Given the description of an element on the screen output the (x, y) to click on. 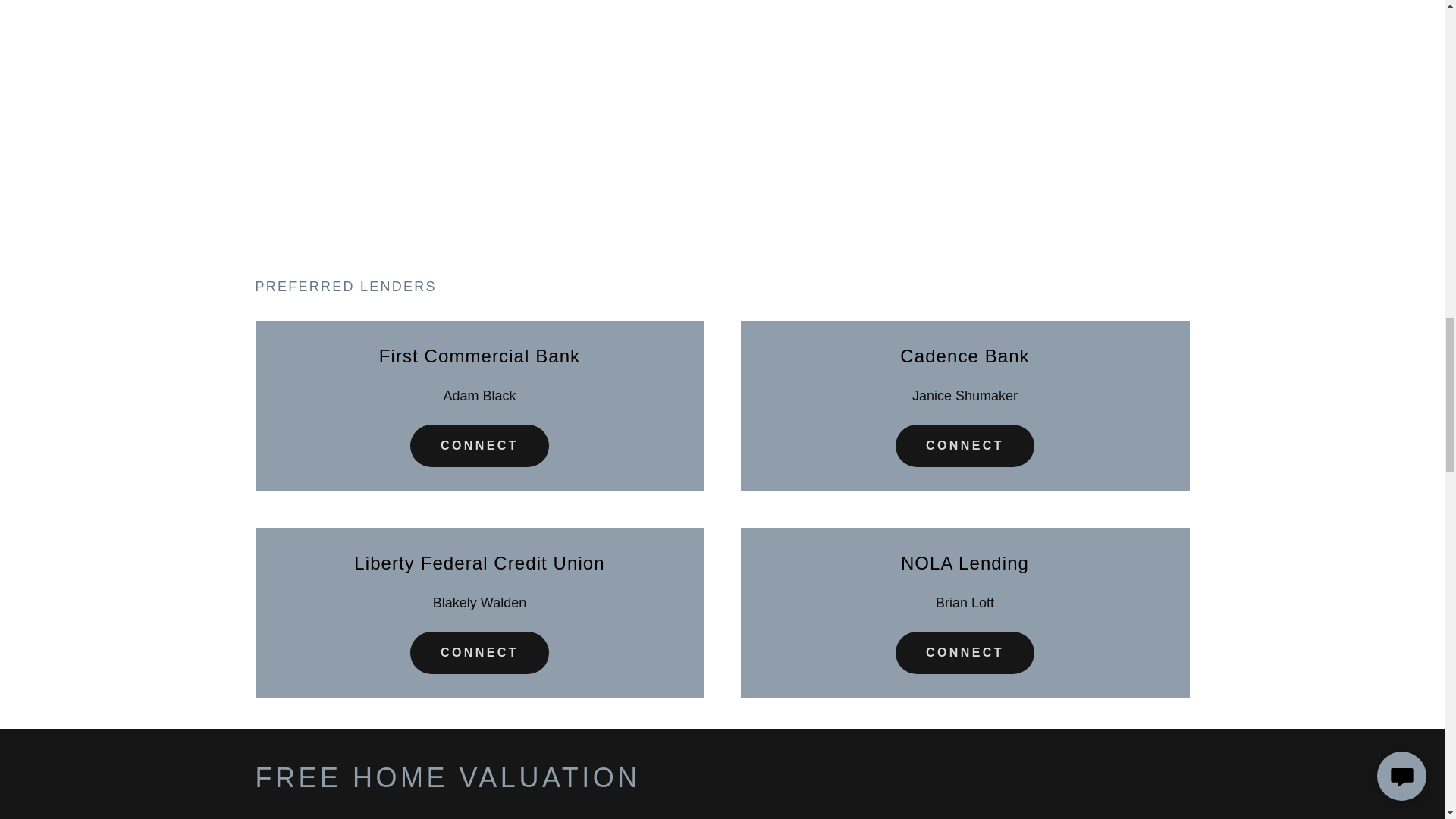
CONNECT (479, 652)
CONNECT (479, 445)
CONNECT (964, 445)
CONNECT (964, 652)
